Given the description of an element on the screen output the (x, y) to click on. 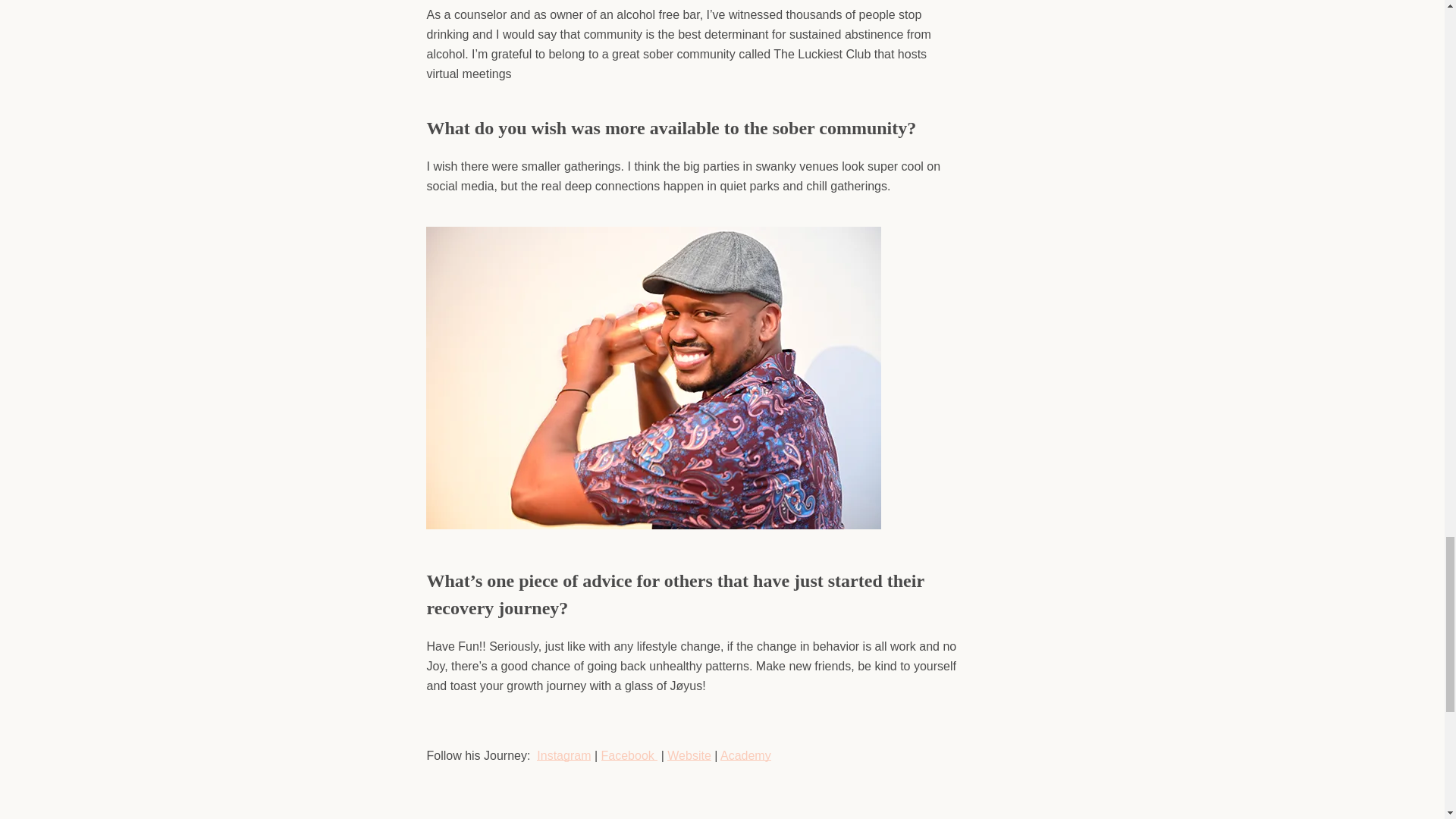
Academy (745, 755)
Website (688, 755)
Facebook (627, 755)
Instagram (564, 755)
